Given the description of an element on the screen output the (x, y) to click on. 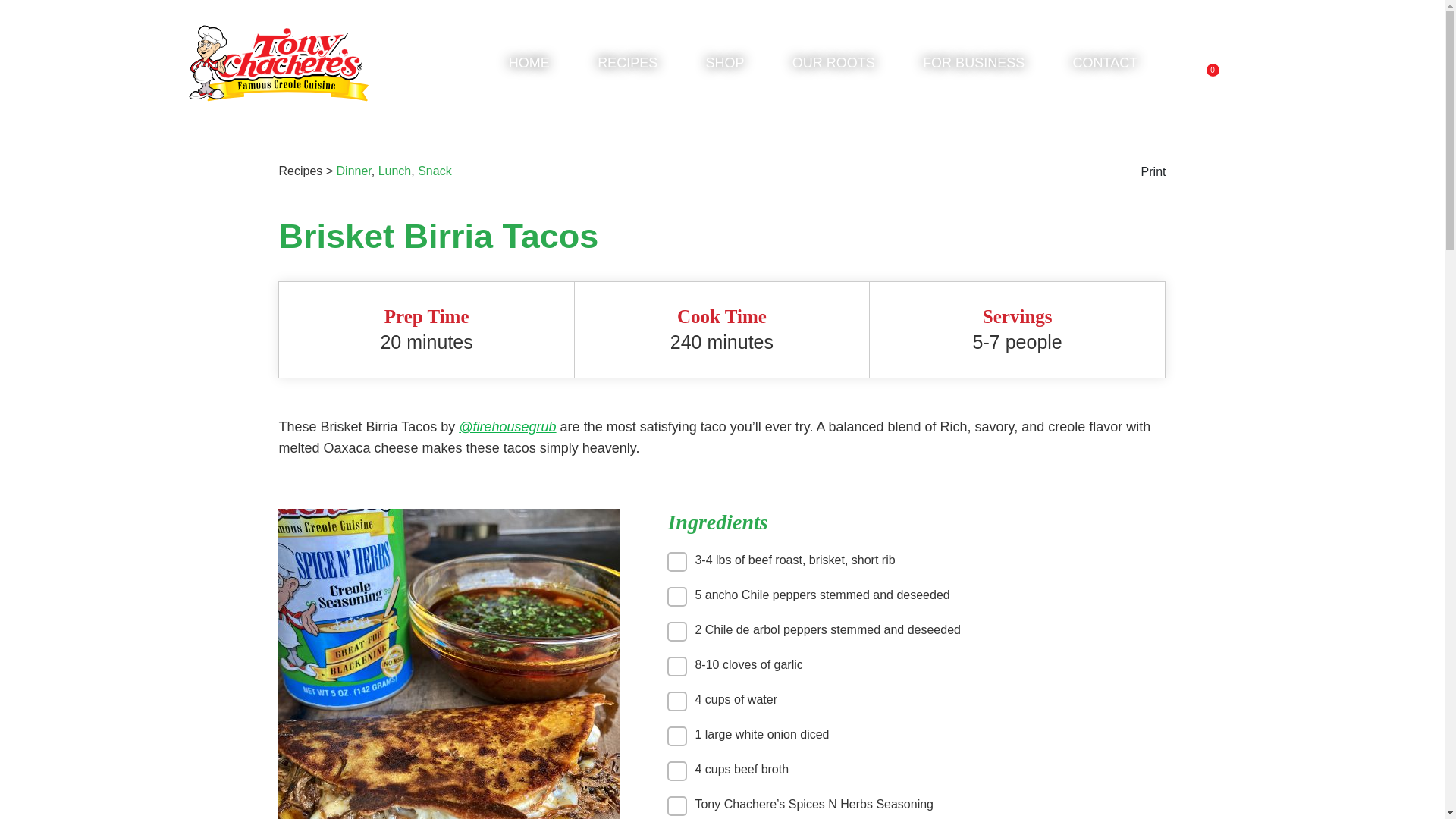
For Business (974, 62)
HOME (529, 62)
CONTACT (1104, 62)
Our Roots (833, 62)
Recipes (627, 62)
OUR ROOTS (833, 62)
RECIPES (627, 62)
FOR BUSINESS (974, 62)
Print (1153, 176)
0 (1205, 63)
Dinner (353, 170)
Home (529, 62)
Shop (724, 62)
Snack (434, 170)
Lunch (395, 170)
